Given the description of an element on the screen output the (x, y) to click on. 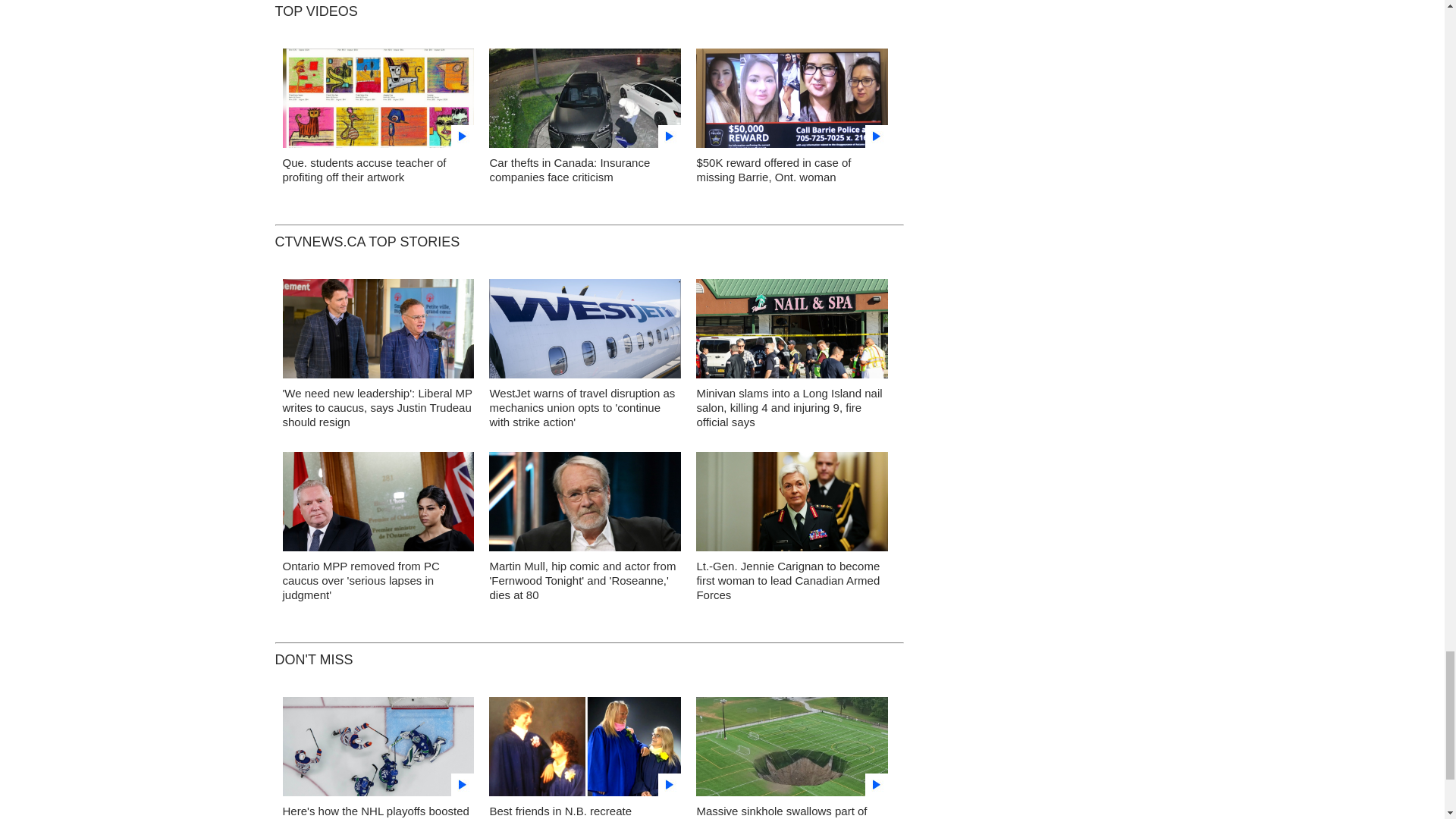
Martin Mull (585, 505)
Wayne Long (378, 332)
stolen vehicle (585, 102)
Lt.-Gen. Jennie Carignan (791, 505)
Goldie Ghamari (378, 506)
WestJet (585, 333)
SINKHOLE (791, 750)
Student art for sale online (378, 102)
N.B. besties re-create grad pics (585, 750)
CTV National News: Canada's playoff boost (378, 750)
